Given the description of an element on the screen output the (x, y) to click on. 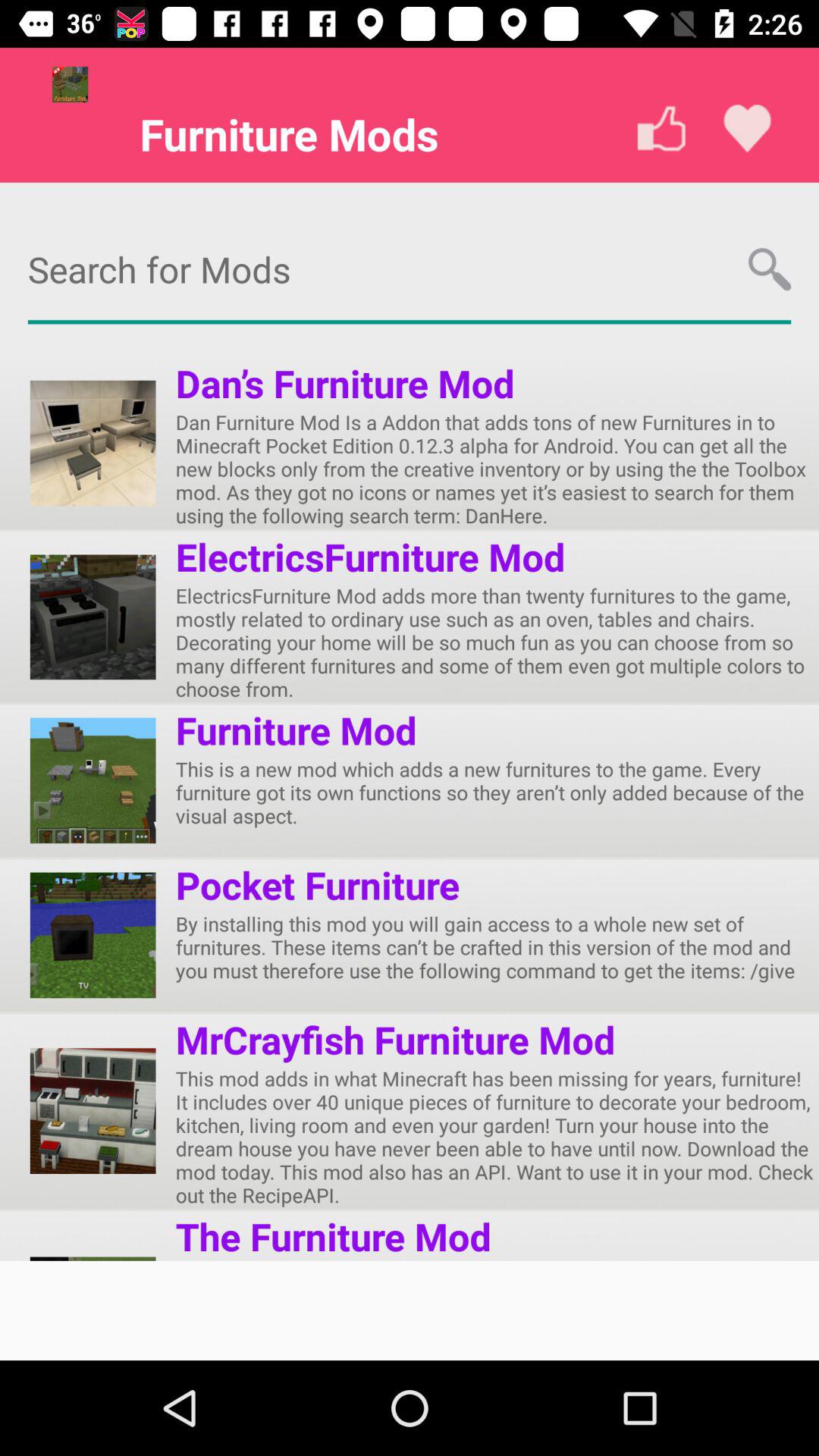
swipe to by installing this app (497, 946)
